Given the description of an element on the screen output the (x, y) to click on. 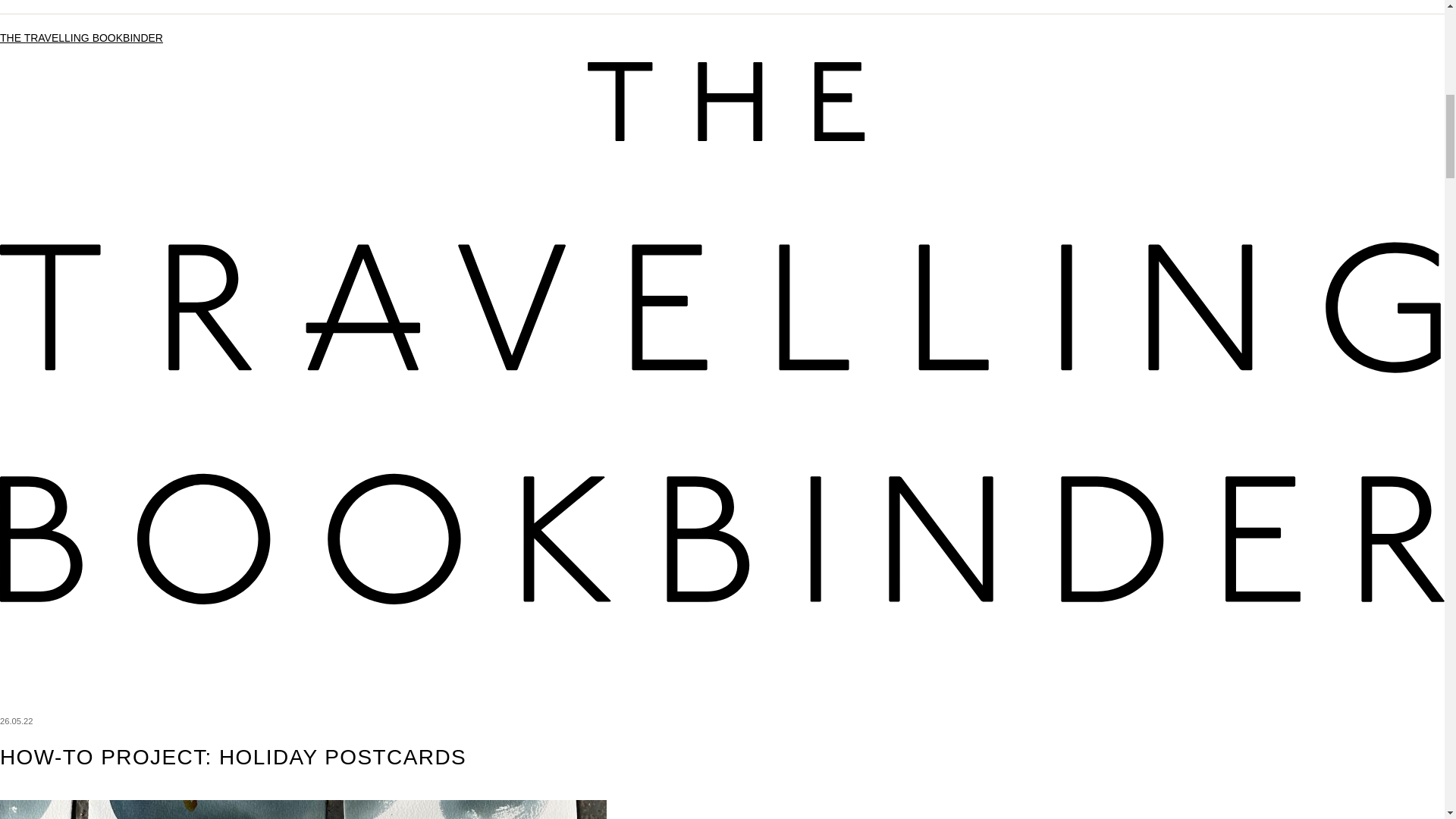
THE TRAVELLING BOOKBINDER (81, 37)
